Given the description of an element on the screen output the (x, y) to click on. 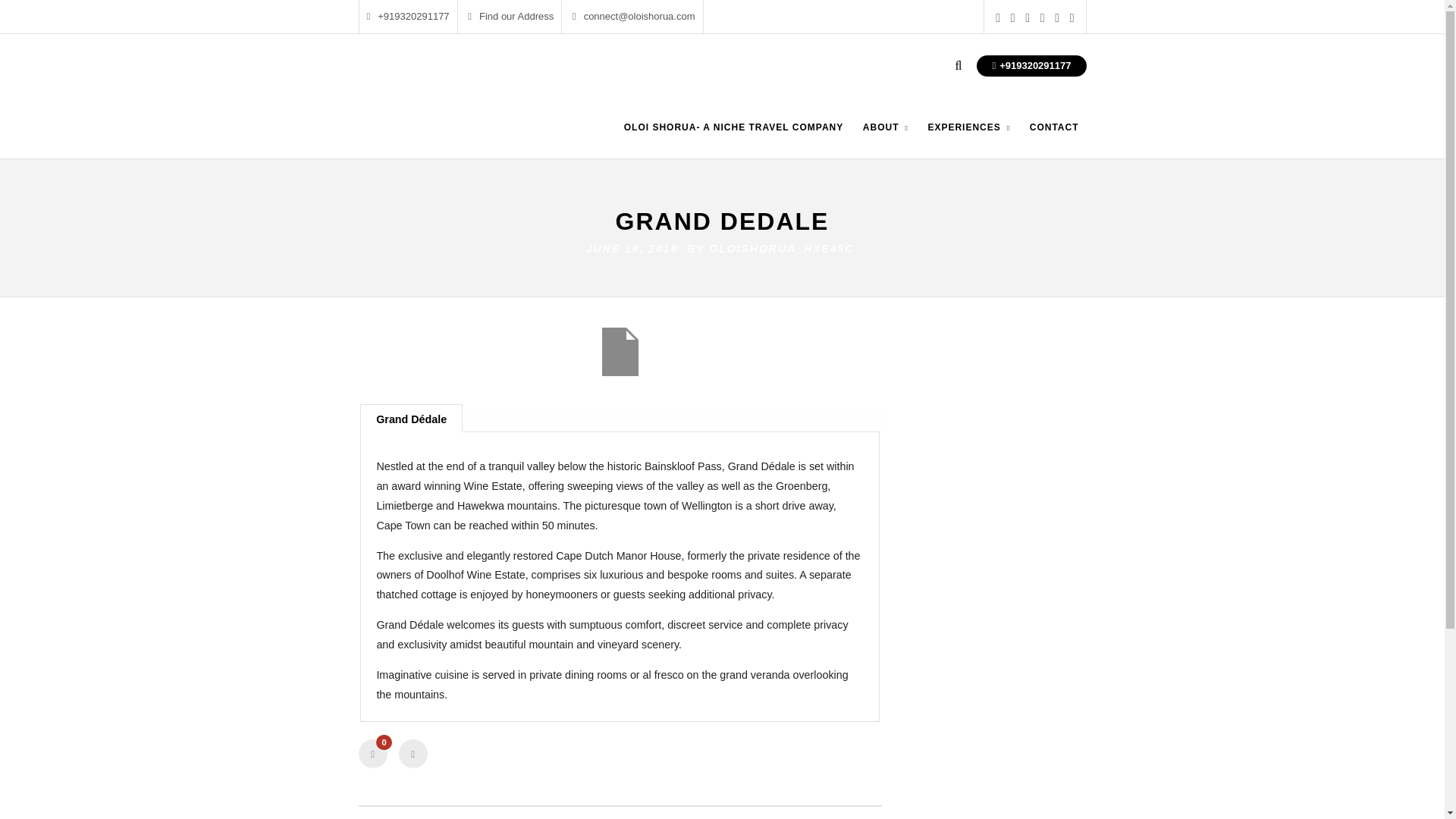
ABOUT (885, 138)
CONTACT (1054, 138)
OLOI SHORUA- A NICHE TRAVEL COMPANY (732, 138)
Find our Address (510, 16)
EXPERIENCES (968, 138)
0 (372, 753)
